Given the description of an element on the screen output the (x, y) to click on. 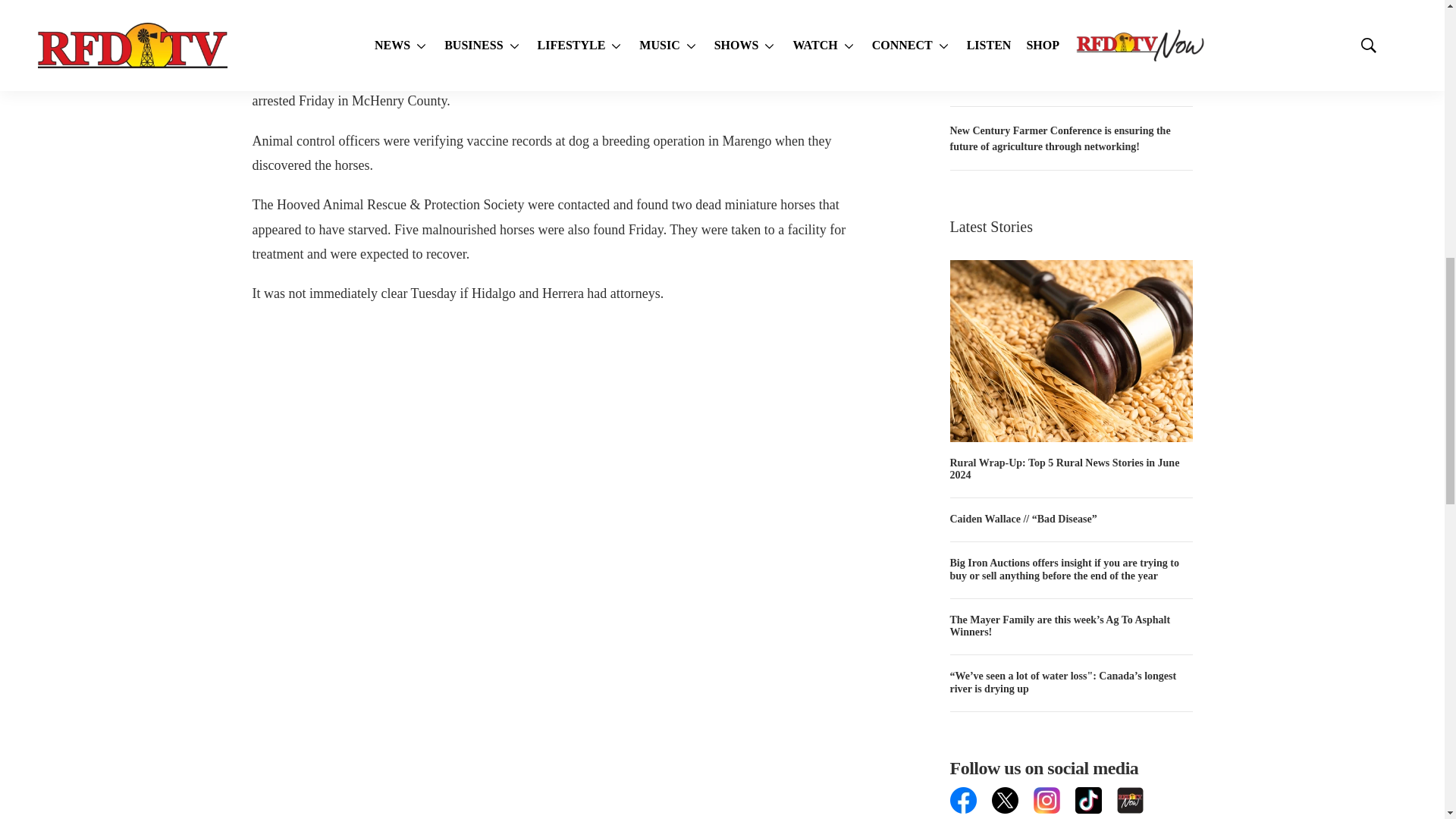
Signup Widget Embed (1070, 816)
